Given the description of an element on the screen output the (x, y) to click on. 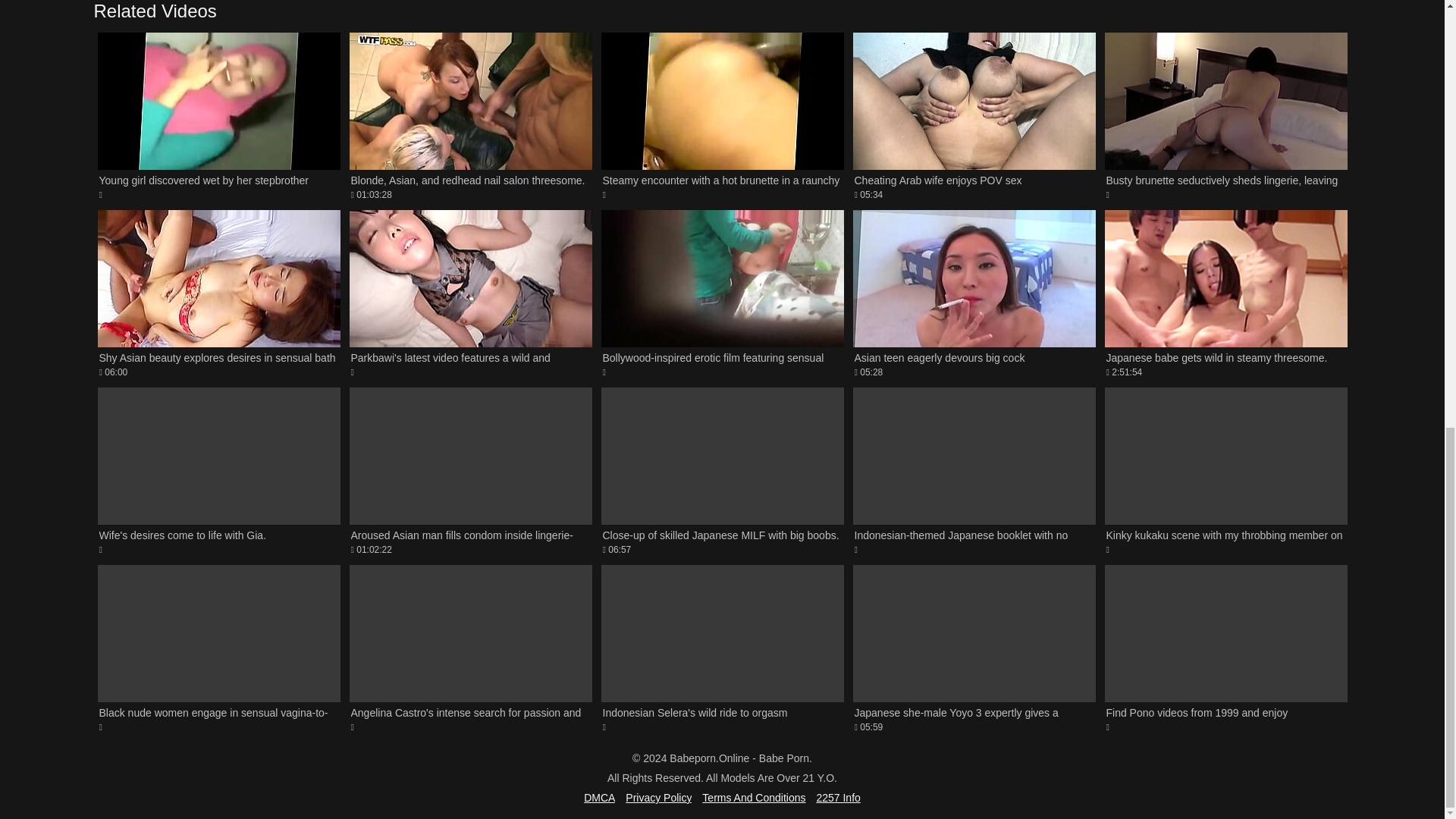
Indonesian Selera's wild ride to orgasm (721, 649)
Angelina Castro's intense search for passion and pleasure. (470, 649)
Wife's desires come to life with Gia. (218, 471)
2257 Info (837, 797)
Shy Asian beauty explores desires in sensual bath (218, 293)
Steamy encounter with a hot brunette in a raunchy BMW scene. (218, 293)
Black nude women engage in sensual vagina-to-vagina play. (721, 115)
Cheating Arab wife enjoys POV sex (470, 115)
